Given the description of an element on the screen output the (x, y) to click on. 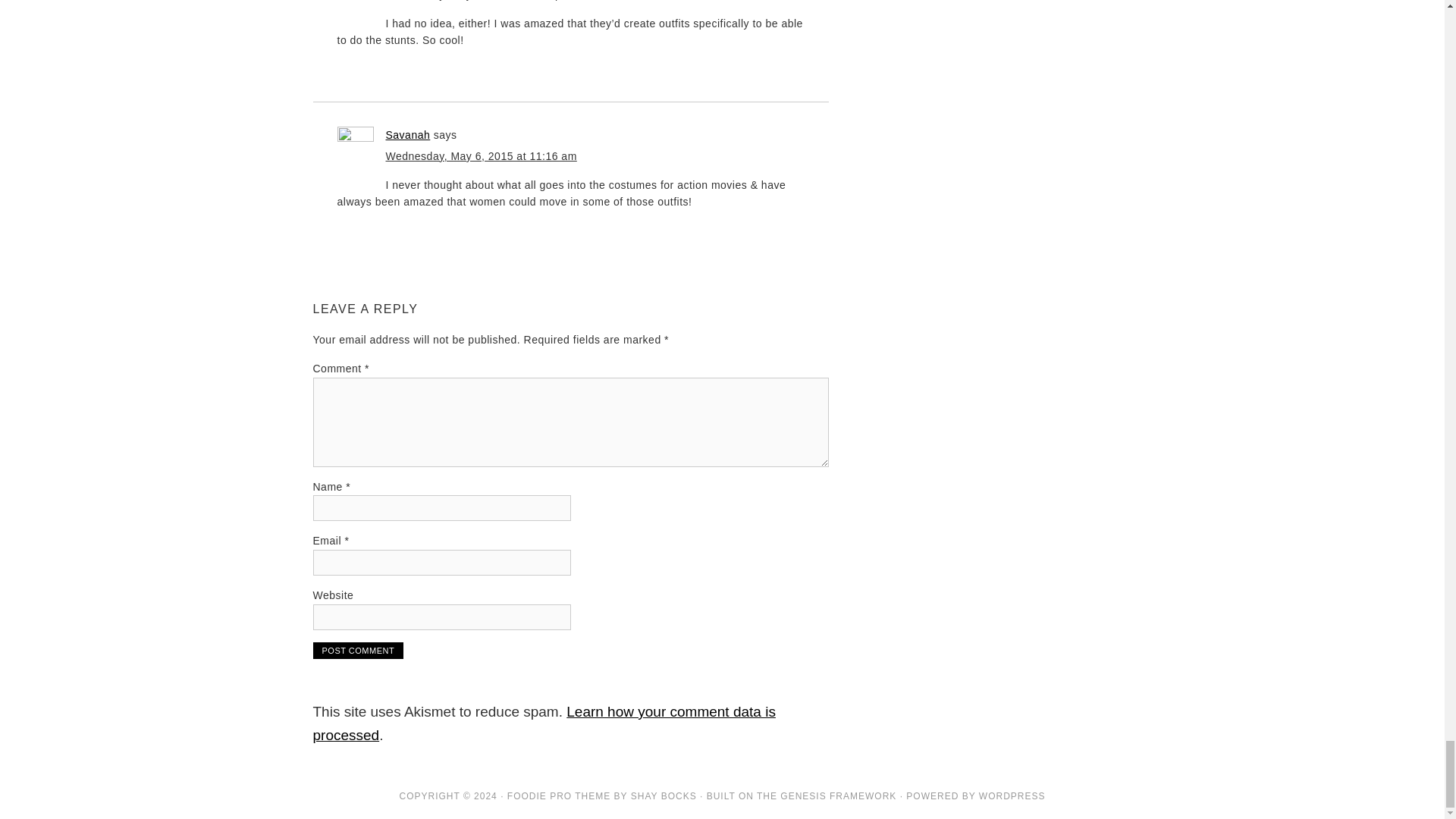
Post Comment (358, 650)
